Given the description of an element on the screen output the (x, y) to click on. 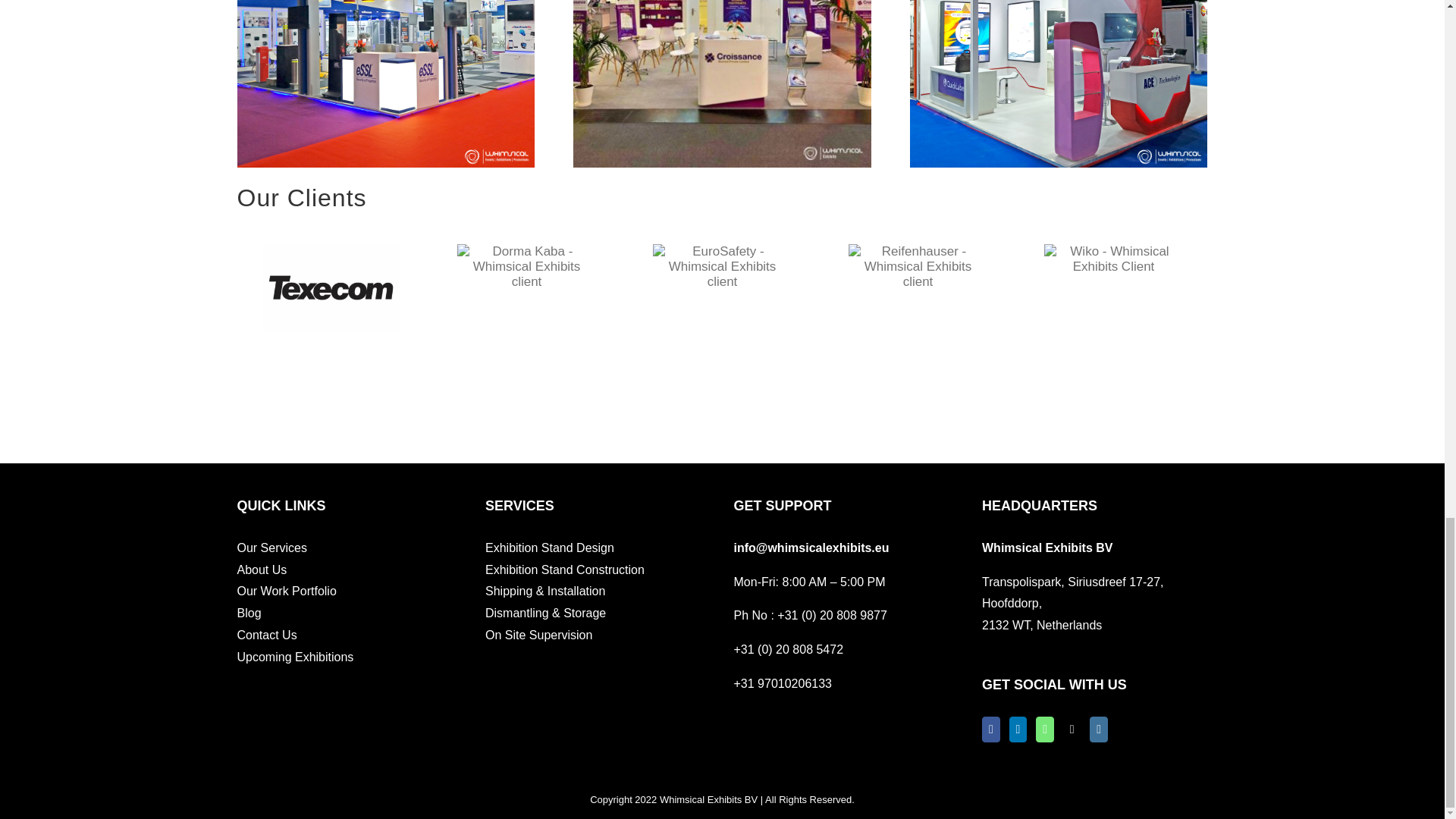
About Us (349, 570)
Our Services (349, 548)
